Given the description of an element on the screen output the (x, y) to click on. 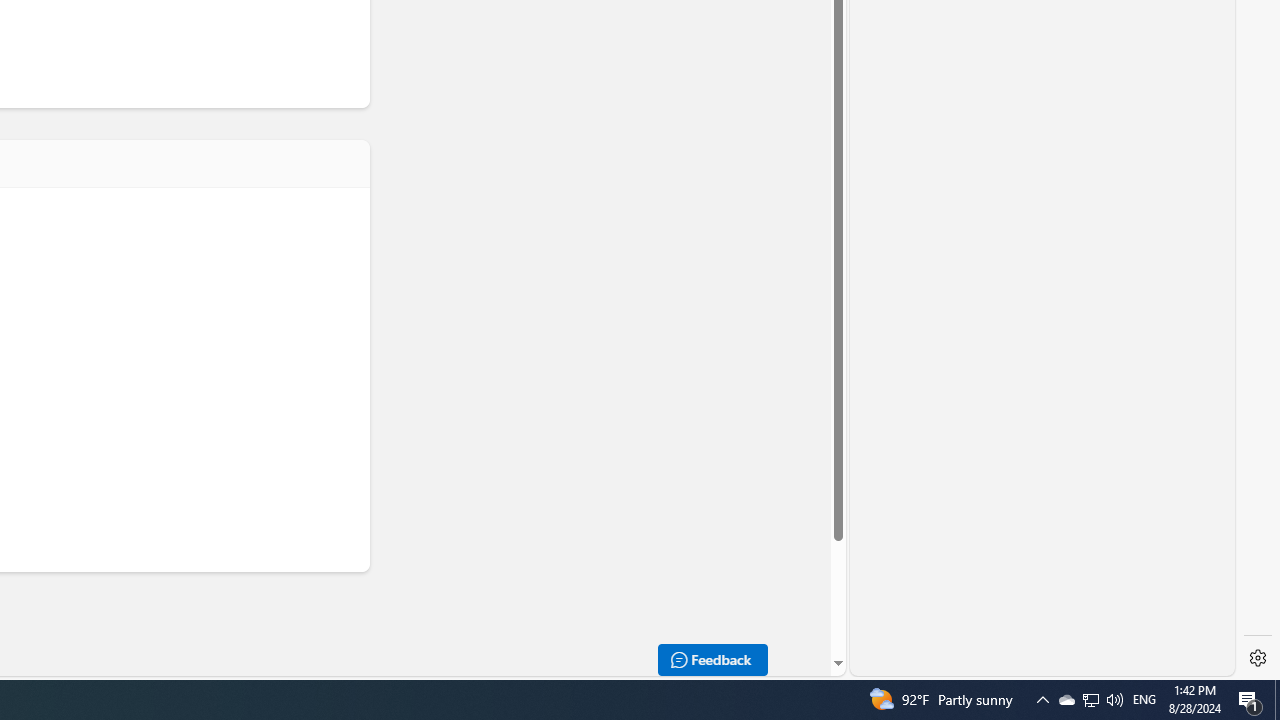
Settings (1258, 658)
